Given the description of an element on the screen output the (x, y) to click on. 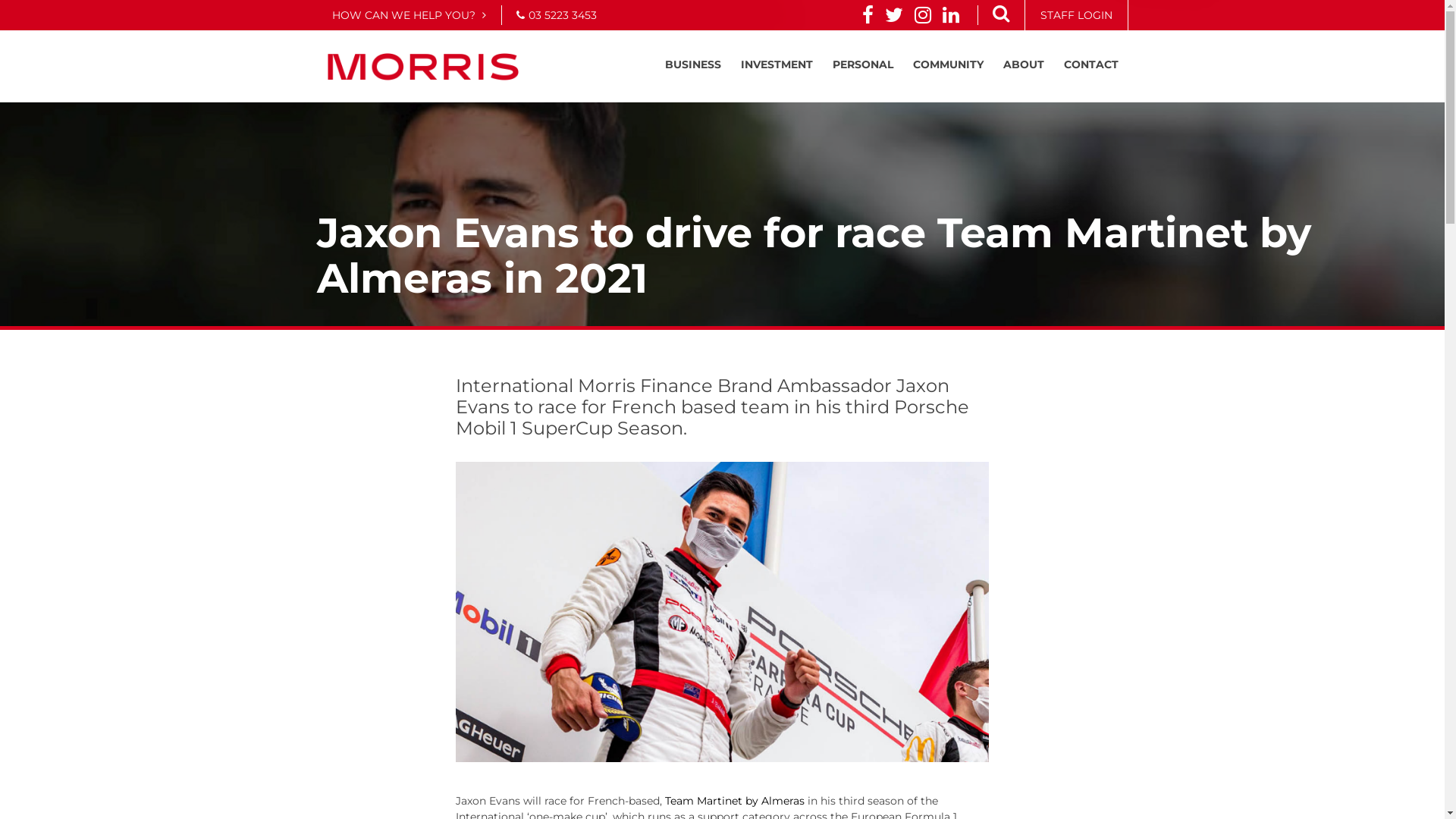
ABOUT Element type: text (1022, 64)
INVESTMENT Element type: text (776, 64)
BUSINESS Element type: text (692, 64)
Team Martinet by Almeras Element type: text (734, 800)
PERSONAL Element type: text (862, 64)
COMMUNITY Element type: text (947, 64)
CONTACT Element type: text (1090, 64)
Morris Finance Element type: text (422, 66)
